Given the description of an element on the screen output the (x, y) to click on. 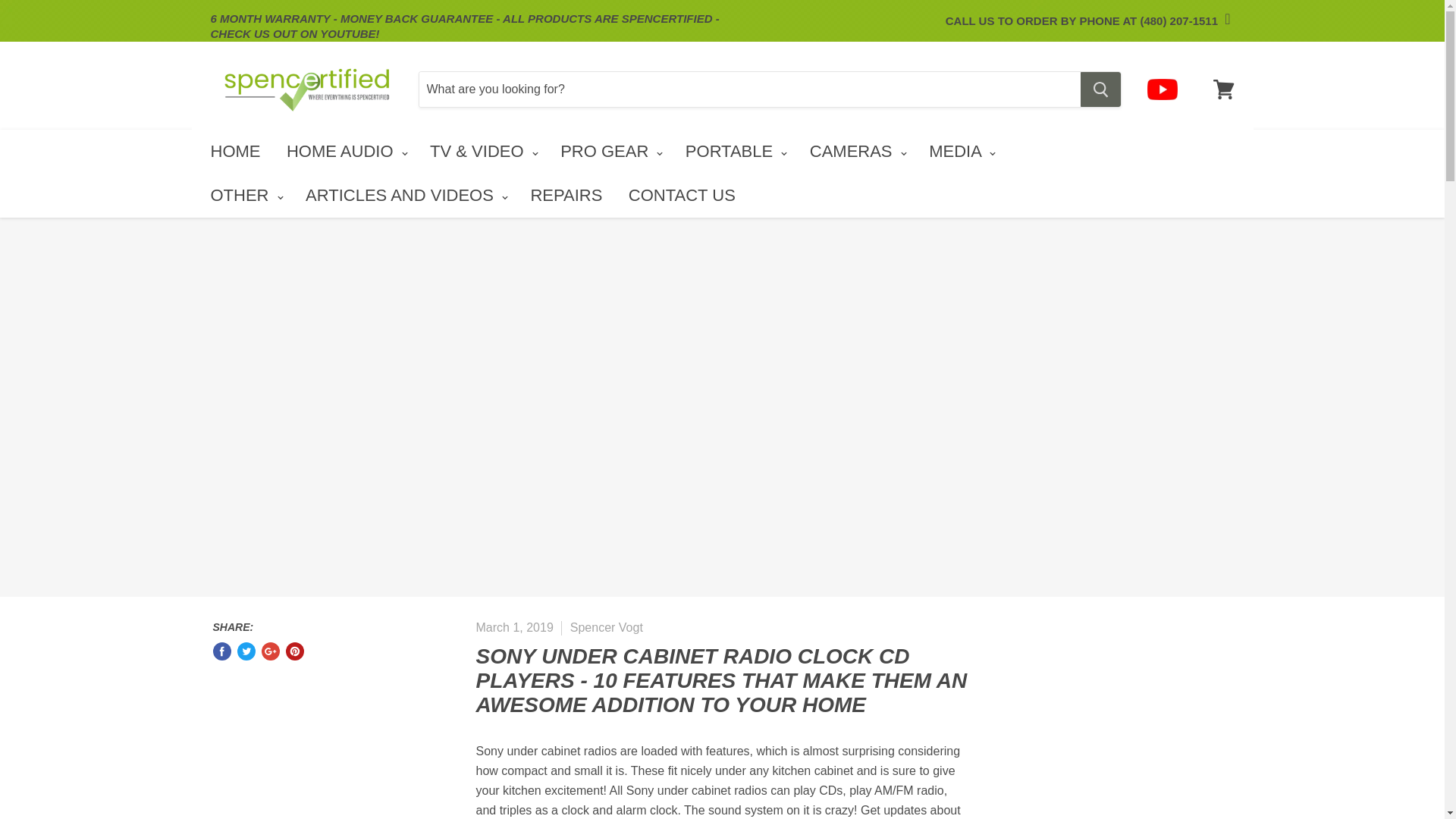
View cart (1223, 89)
HOME (234, 151)
HOME AUDIO (344, 151)
